Given the description of an element on the screen output the (x, y) to click on. 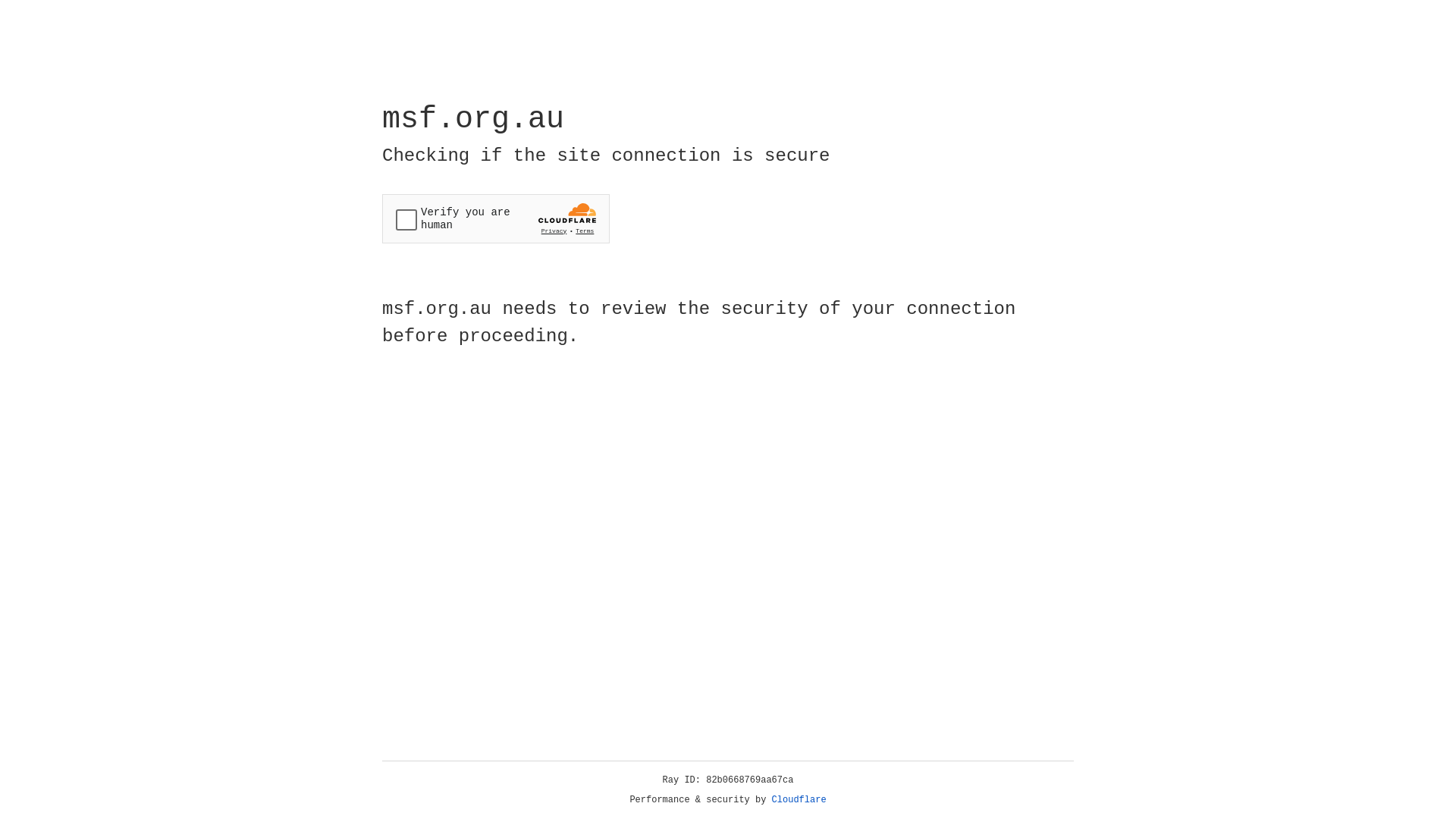
Widget containing a Cloudflare security challenge Element type: hover (495, 218)
Cloudflare Element type: text (798, 799)
